Given the description of an element on the screen output the (x, y) to click on. 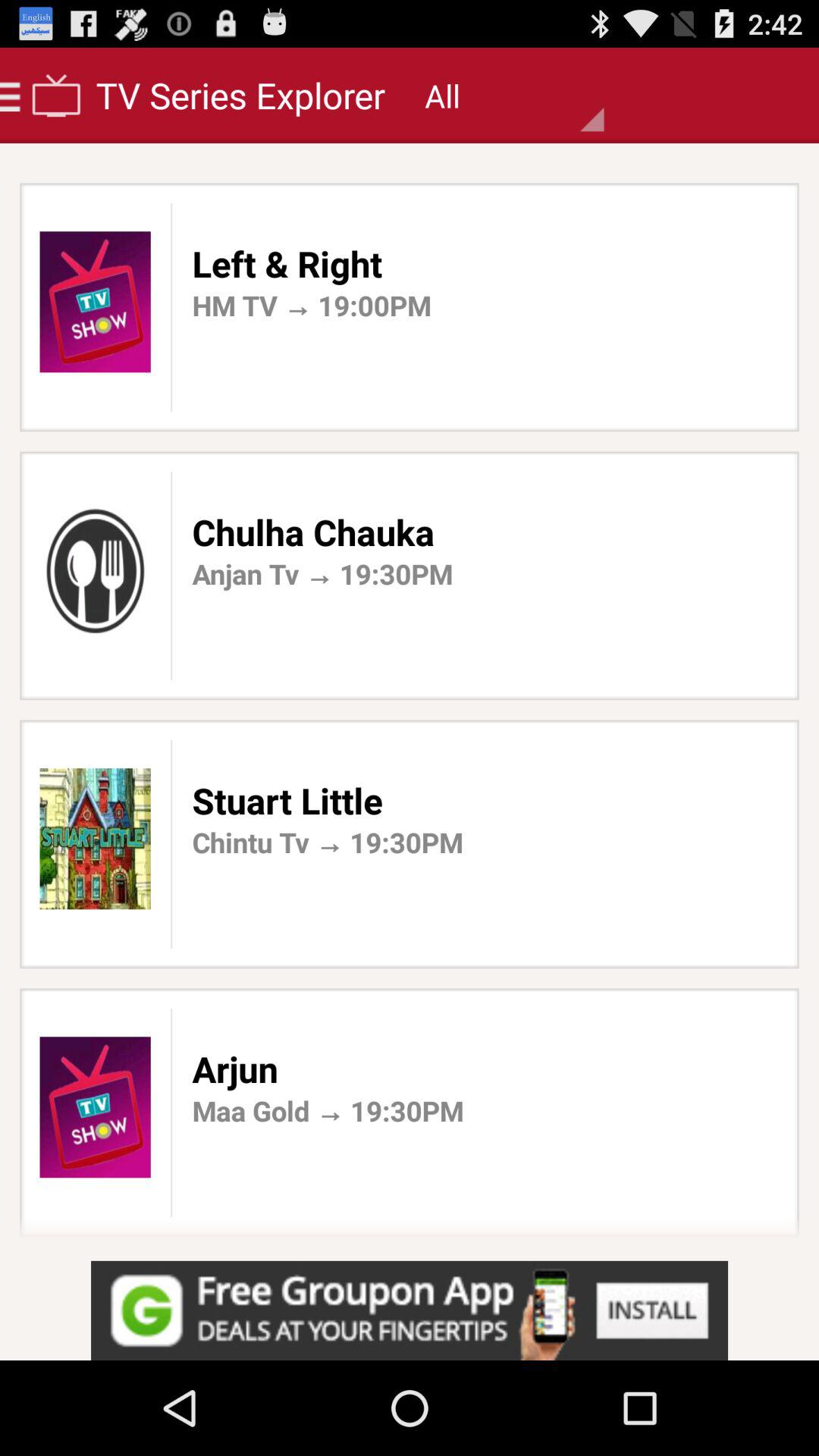
install free groupon app (409, 1310)
